Given the description of an element on the screen output the (x, y) to click on. 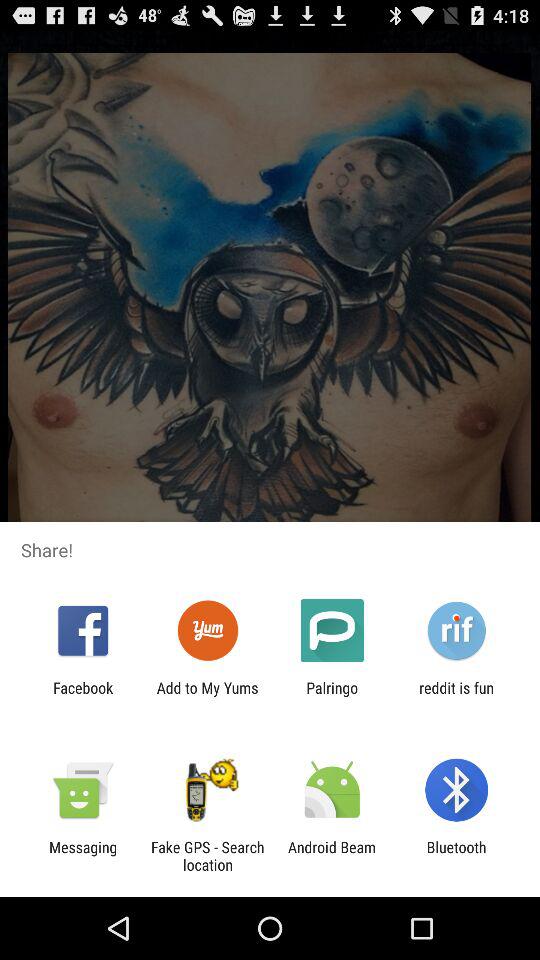
turn on item to the right of the messaging item (207, 856)
